Given the description of an element on the screen output the (x, y) to click on. 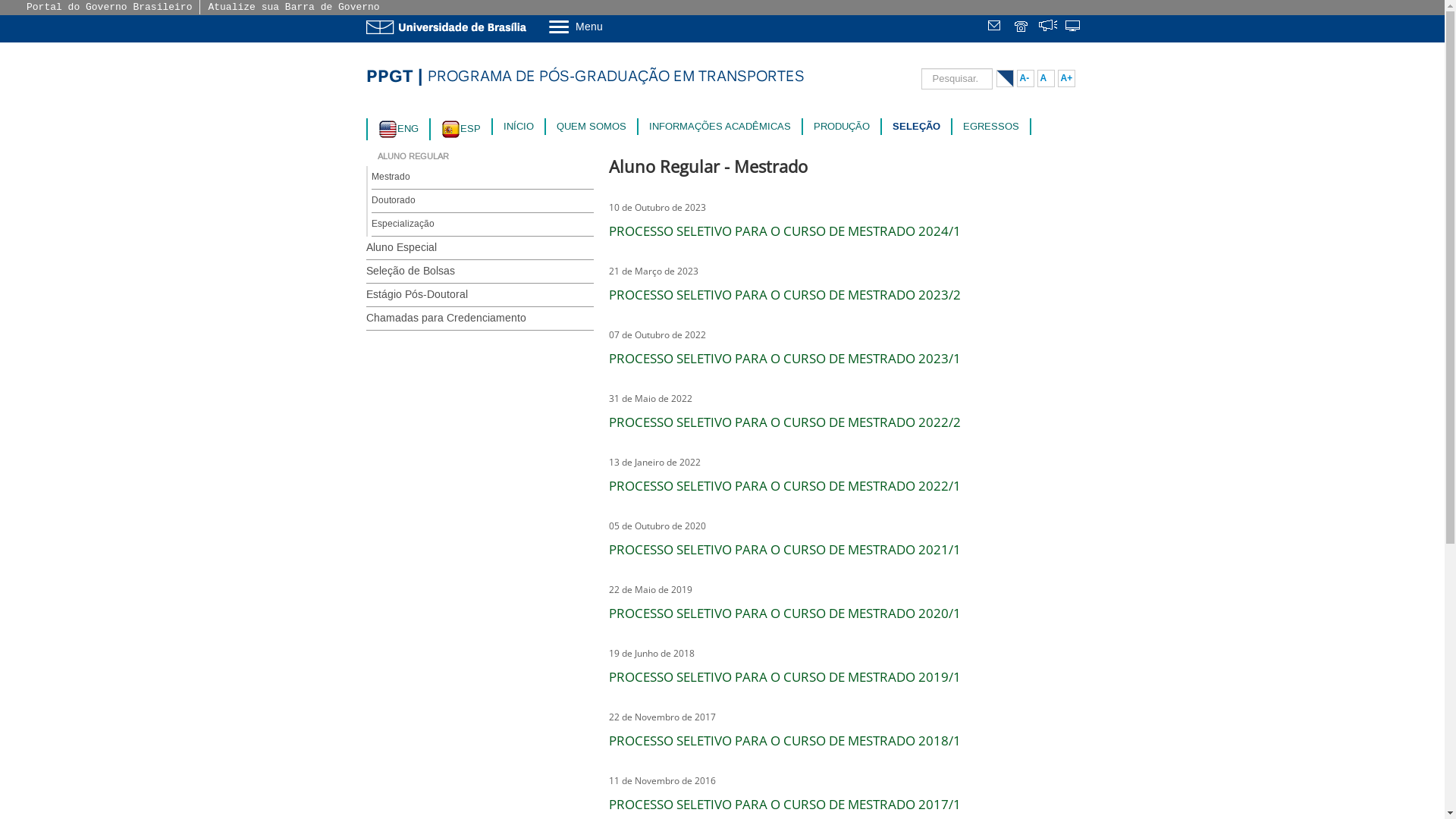
  Element type: text (1047, 27)
QUEM SOMOS Element type: text (591, 126)
ESP Element type: text (460, 129)
Telefones da UnB Element type: hover (1022, 27)
Fala.BR Element type: hover (1047, 27)
A+ Element type: text (1065, 78)
EGRESSOS Element type: text (990, 126)
PROCESSO SELETIVO PARA O CURSO DE MESTRADO 2021/1 Element type: text (784, 549)
A- Element type: text (1024, 78)
Sistemas Element type: hover (1073, 27)
PROCESSO SELETIVO PARA O CURSO DE MESTRADO 2018/1 Element type: text (784, 740)
PROCESSO SELETIVO PARA O CURSO DE MESTRADO 2022/2 Element type: text (784, 421)
PROCESSO SELETIVO PARA O CURSO DE MESTRADO 2022/1 Element type: text (784, 485)
  Element type: text (1022, 27)
PROCESSO SELETIVO PARA O CURSO DE MESTRADO 2020/1 Element type: text (784, 612)
PROCESSO SELETIVO PARA O CURSO DE MESTRADO 2023/2 Element type: text (784, 294)
Chamadas para Credenciamento Element type: text (479, 318)
PROCESSO SELETIVO PARA O CURSO DE MESTRADO 2019/1 Element type: text (784, 676)
Portal do Governo Brasileiro Element type: text (108, 6)
Atualize sua Barra de Governo Element type: text (293, 6)
Doutorado Element type: text (482, 201)
  Element type: text (996, 27)
  Element type: text (1073, 27)
Mestrado Element type: text (482, 177)
PROCESSO SELETIVO PARA O CURSO DE MESTRADO 2017/1 Element type: text (784, 803)
Ir para o Portal da UnB Element type: hover (448, 26)
Aluno Especial Element type: text (479, 248)
PROCESSO SELETIVO PARA O CURSO DE MESTRADO 2023/1 Element type: text (784, 358)
ENG Element type: text (397, 129)
A Element type: text (1045, 78)
Menu Element type: text (613, 25)
Webmail Element type: hover (996, 27)
PROCESSO SELETIVO PARA O CURSO DE MESTRADO 2024/1 Element type: text (784, 230)
